Given the description of an element on the screen output the (x, y) to click on. 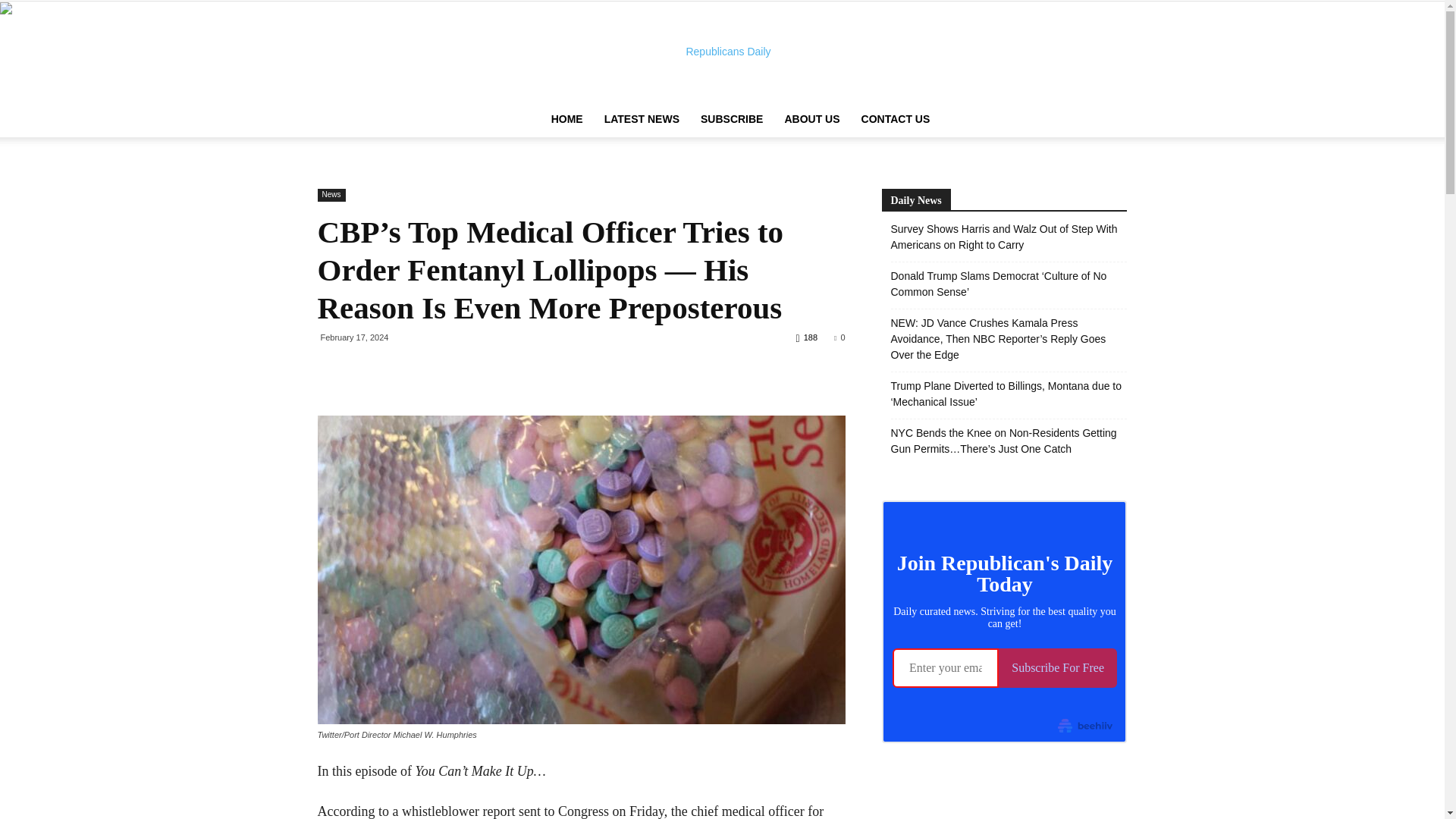
LATEST NEWS (642, 118)
News (331, 195)
ABOUT US (811, 118)
SUBSCRIBE (731, 118)
CONTACT US (895, 118)
HOME (567, 118)
0 (839, 337)
